Given the description of an element on the screen output the (x, y) to click on. 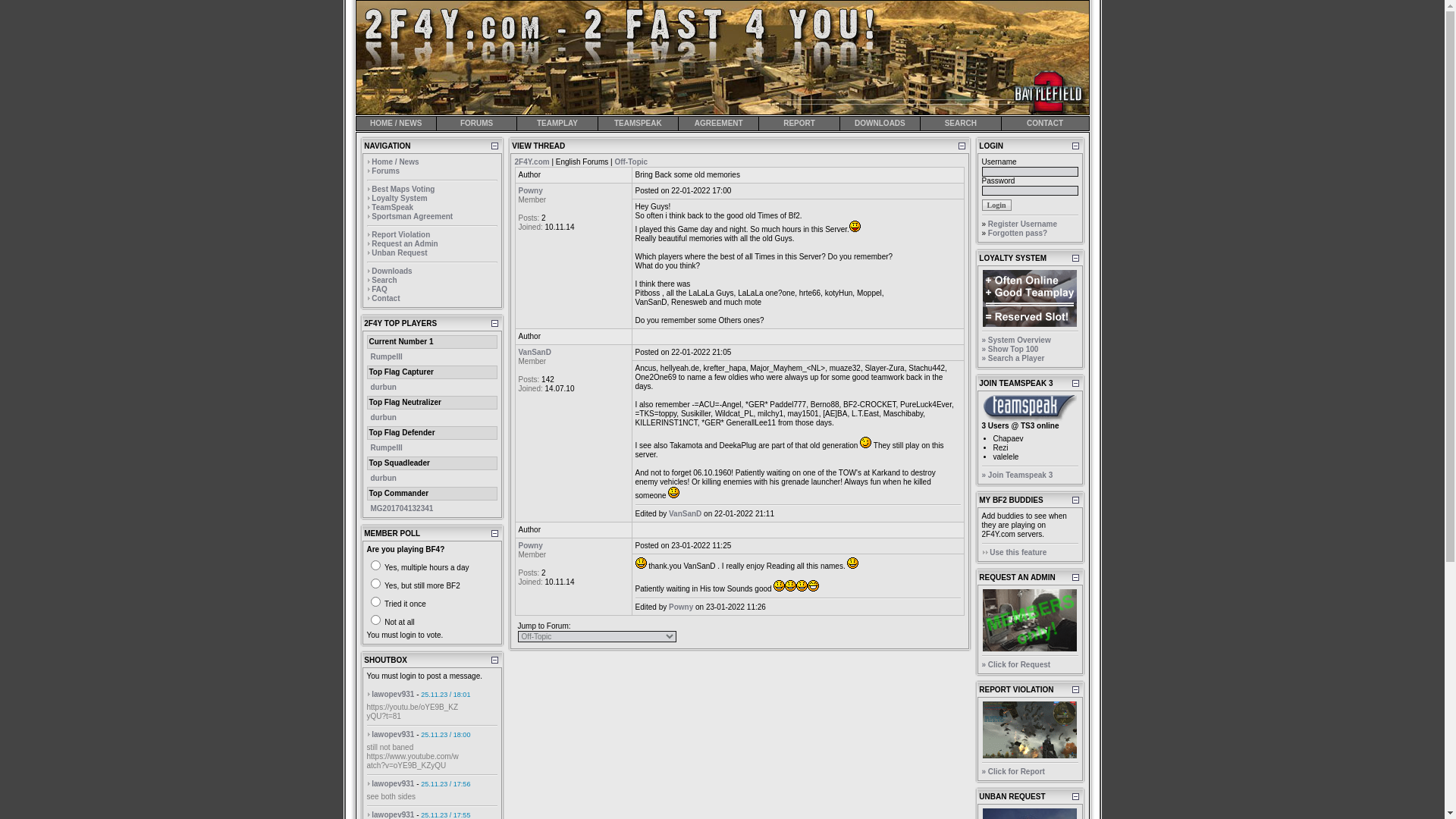
Loyalty System Element type: text (398, 198)
Forgotten pass? Element type: text (1017, 233)
SEARCH Element type: text (960, 123)
VanSanD Element type: text (534, 352)
lawopev931 Element type: text (392, 694)
2F4Y.com Element type: text (531, 161)
lawopev931 Element type: text (392, 783)
Rumpelll Element type: text (385, 447)
Search Element type: text (383, 280)
Off-Topic Element type: text (630, 161)
TEAMPLAY Element type: text (556, 123)
Sportsman Agreement Element type: text (411, 216)
Use this feature Element type: text (1017, 552)
REPORT Element type: text (798, 123)
Login Element type: text (995, 204)
lawopev931 Element type: text (392, 734)
TeamSpeak Element type: text (392, 207)
Rumpelll Element type: text (385, 356)
Unban Request Element type: text (398, 252)
Contact Element type: text (385, 298)
Powny Element type: text (530, 190)
Home / News Element type: text (394, 161)
HOME / NEWS Element type: text (396, 123)
Request an Admin Element type: text (404, 243)
Powny Element type: text (680, 606)
Report Violation Element type: text (400, 234)
CONTACT Element type: text (1044, 123)
durbun Element type: text (382, 477)
TEAMSPEAK Element type: text (637, 123)
durbun Element type: text (382, 386)
Powny Element type: text (530, 545)
Register Username Element type: text (1022, 223)
FORUMS Element type: text (476, 123)
MG201704132341 Element type: text (401, 508)
DOWNLOADS Element type: text (879, 123)
Best Maps Voting Element type: text (402, 189)
FAQ Element type: text (379, 289)
AGREEMENT Element type: text (718, 123)
Downloads Element type: text (391, 270)
durbun Element type: text (382, 417)
Forums Element type: text (385, 170)
VanSanD Element type: text (684, 513)
